Given the description of an element on the screen output the (x, y) to click on. 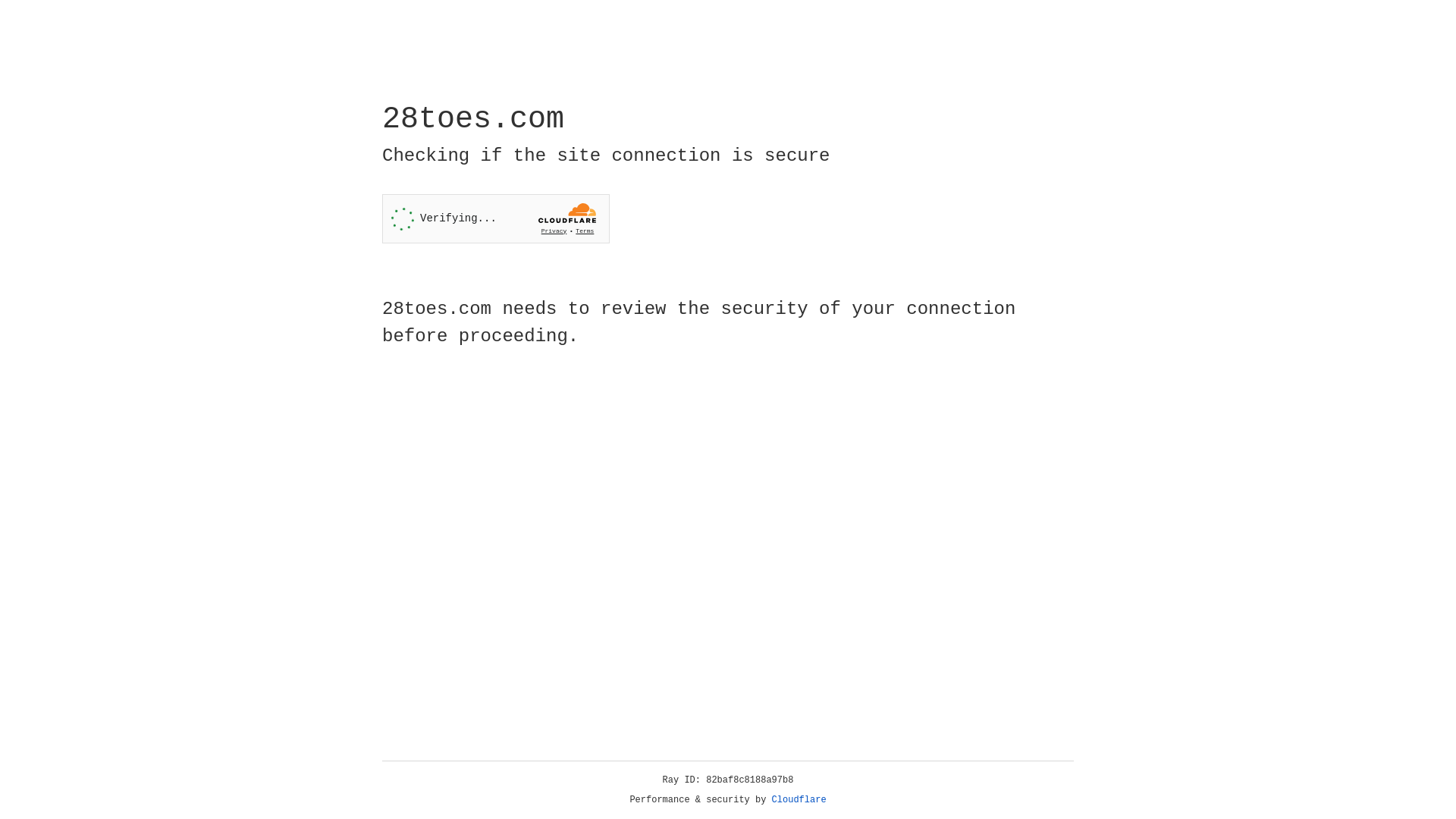
Widget containing a Cloudflare security challenge Element type: hover (495, 218)
Cloudflare Element type: text (798, 799)
